Given the description of an element on the screen output the (x, y) to click on. 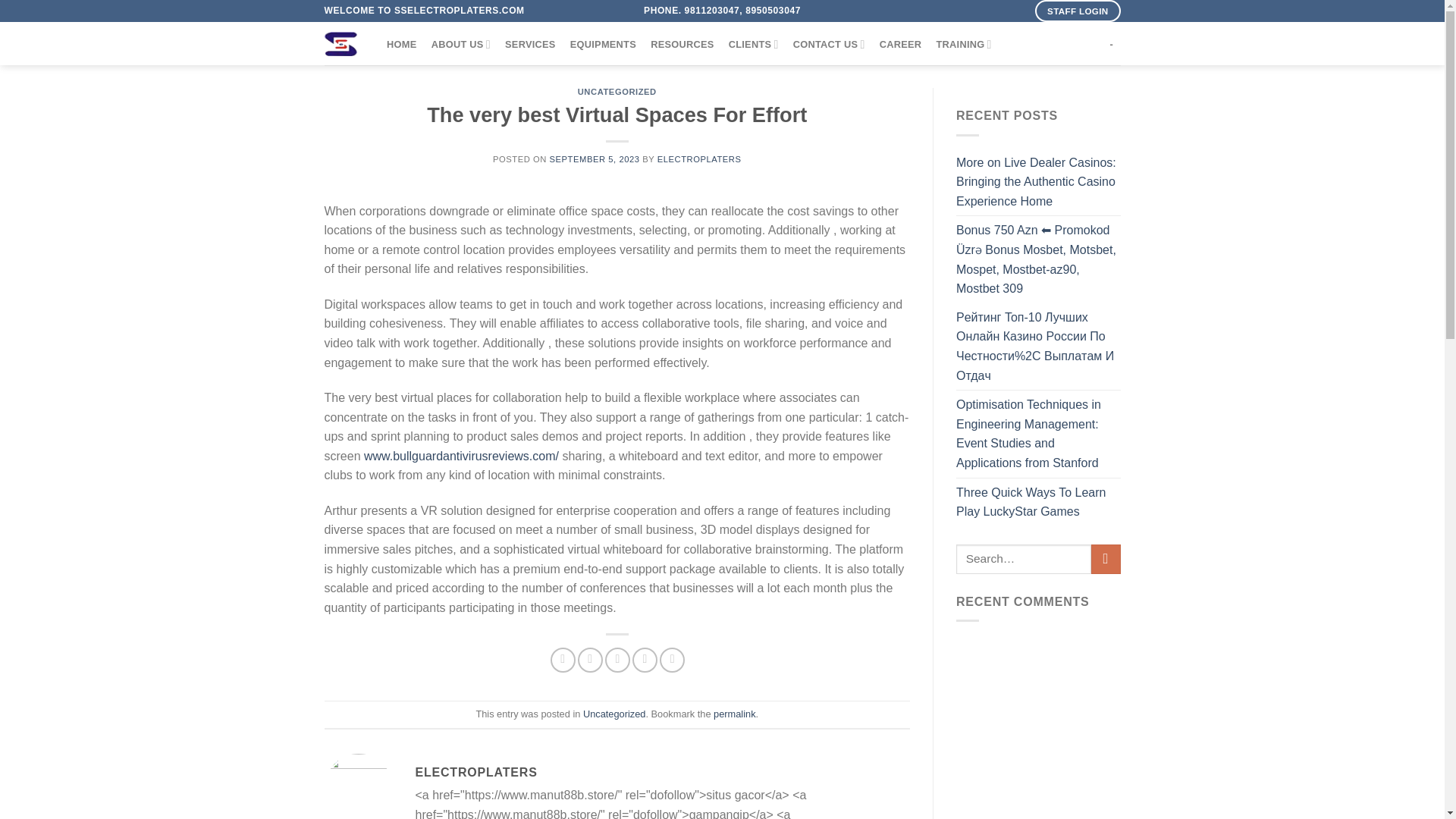
CAREER (900, 44)
- (1111, 44)
STAFF LOGIN (1077, 11)
Share on LinkedIn (671, 659)
CONTACT US (829, 44)
HOME (400, 44)
Share on Facebook (562, 659)
TRAINING (963, 44)
Pin on Pinterest (644, 659)
SEPTEMBER 5, 2023 (595, 158)
